Given the description of an element on the screen output the (x, y) to click on. 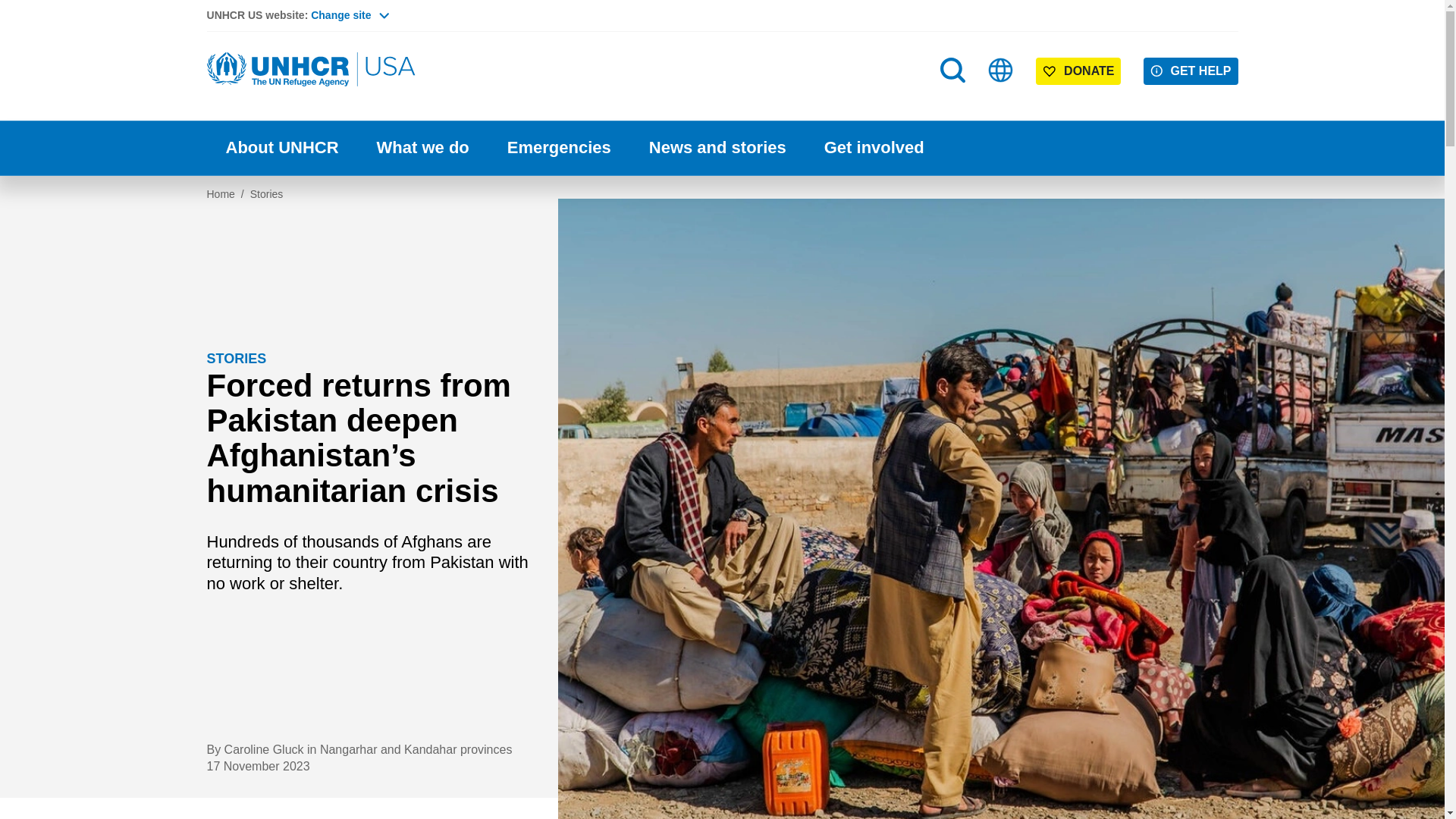
Sites (1000, 69)
Search (954, 99)
GET HELP (1189, 71)
Change site (349, 15)
Home (312, 69)
Search (952, 69)
Skip to main content (721, 1)
About UNHCR (281, 148)
DONATE (1078, 71)
